Given the description of an element on the screen output the (x, y) to click on. 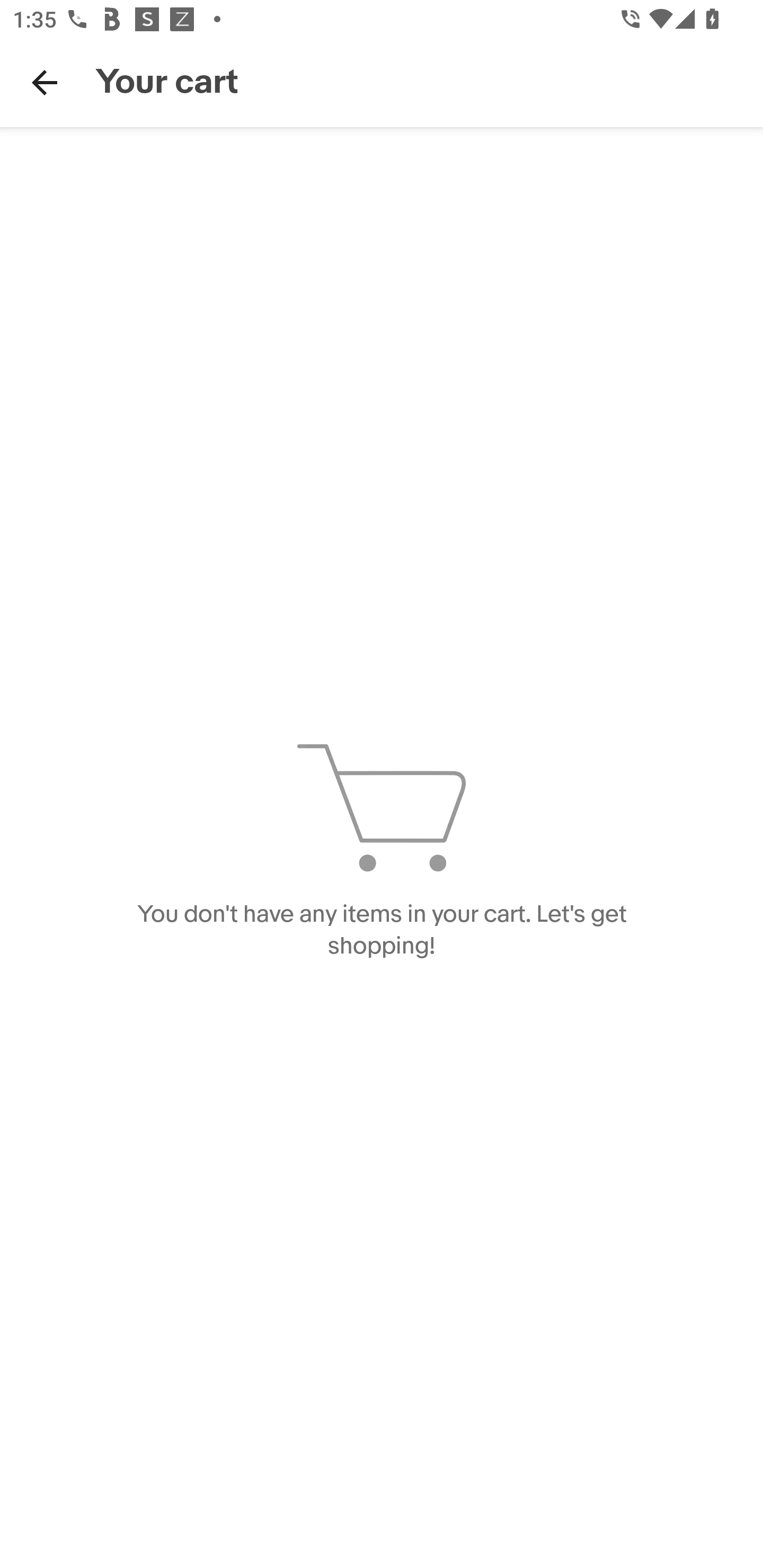
Navigate up (44, 82)
